Given the description of an element on the screen output the (x, y) to click on. 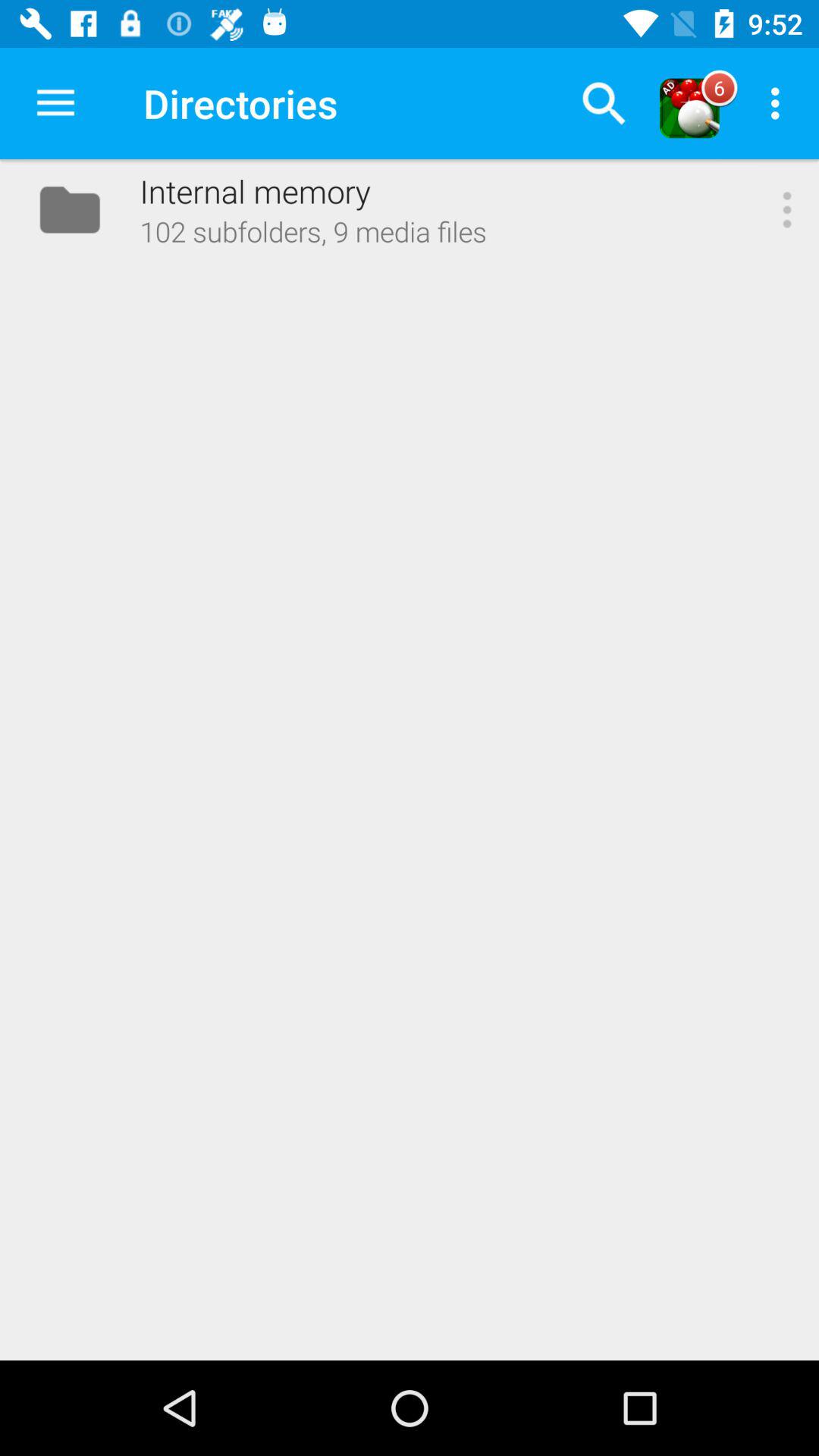
turn off the icon to the left of the internal memory (55, 103)
